Given the description of an element on the screen output the (x, y) to click on. 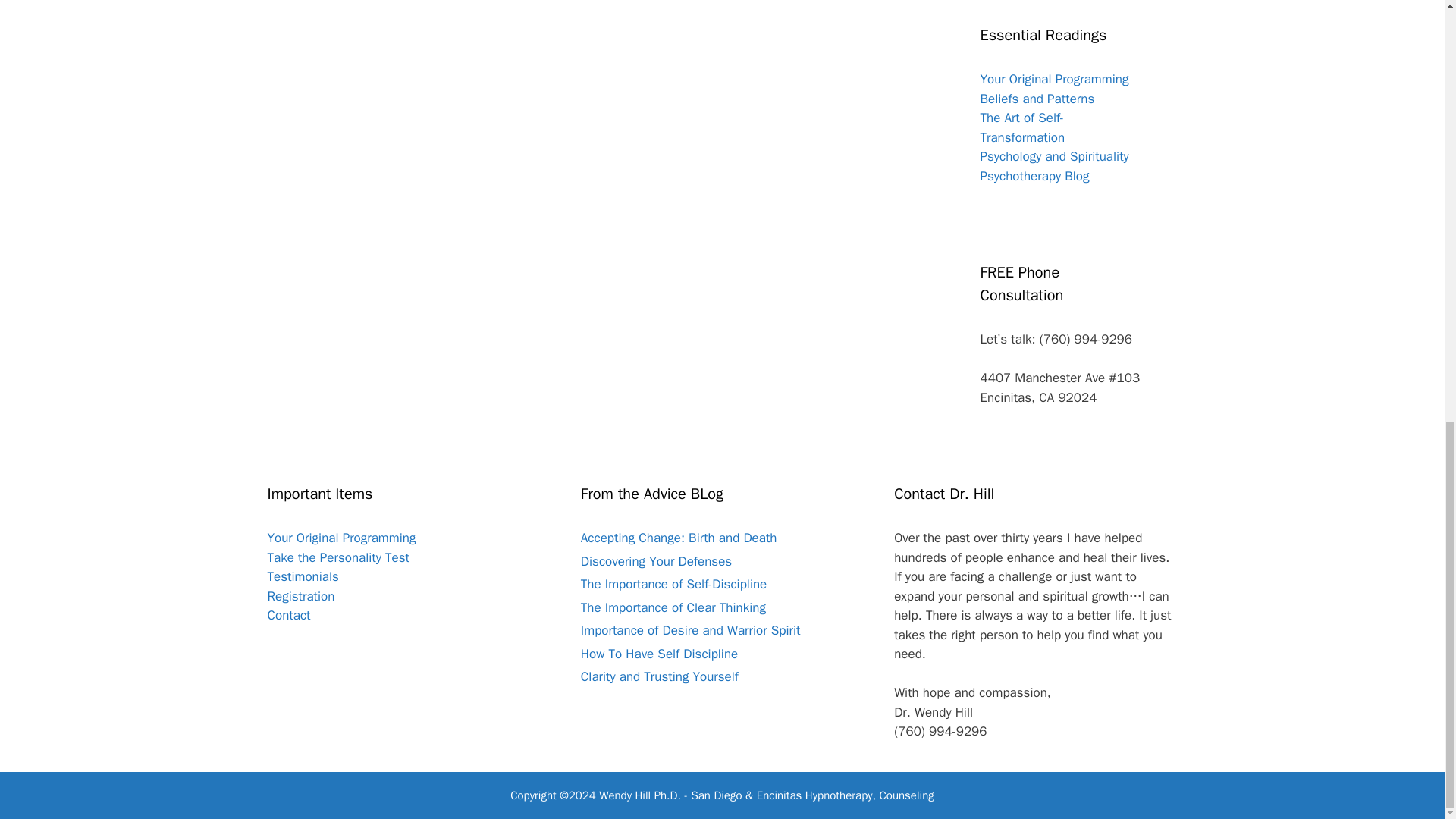
Scroll back to top (1406, 670)
